Given the description of an element on the screen output the (x, y) to click on. 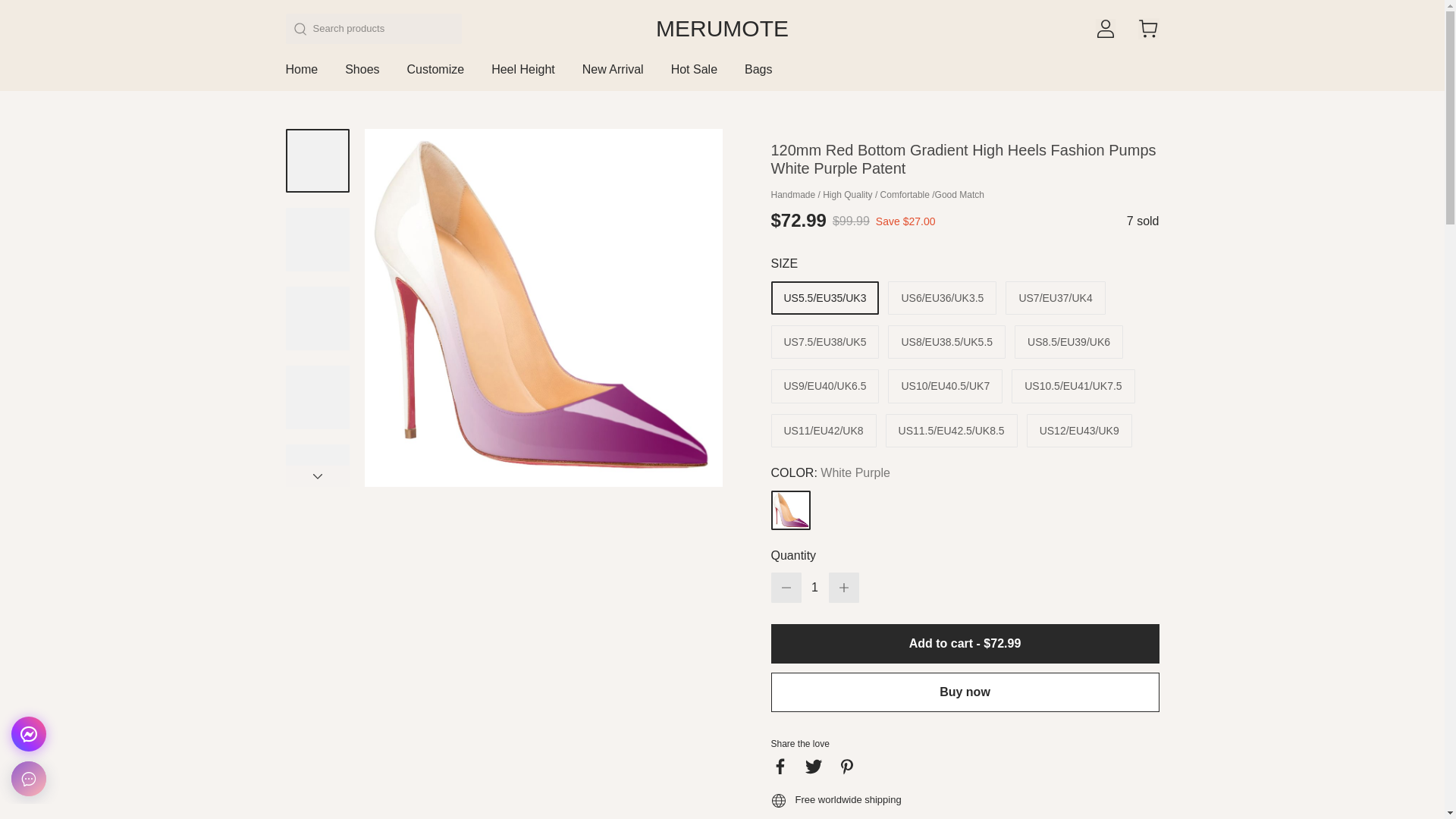
Home (301, 76)
1 (814, 587)
Shoes (361, 76)
MERUMOTE (722, 28)
